Given the description of an element on the screen output the (x, y) to click on. 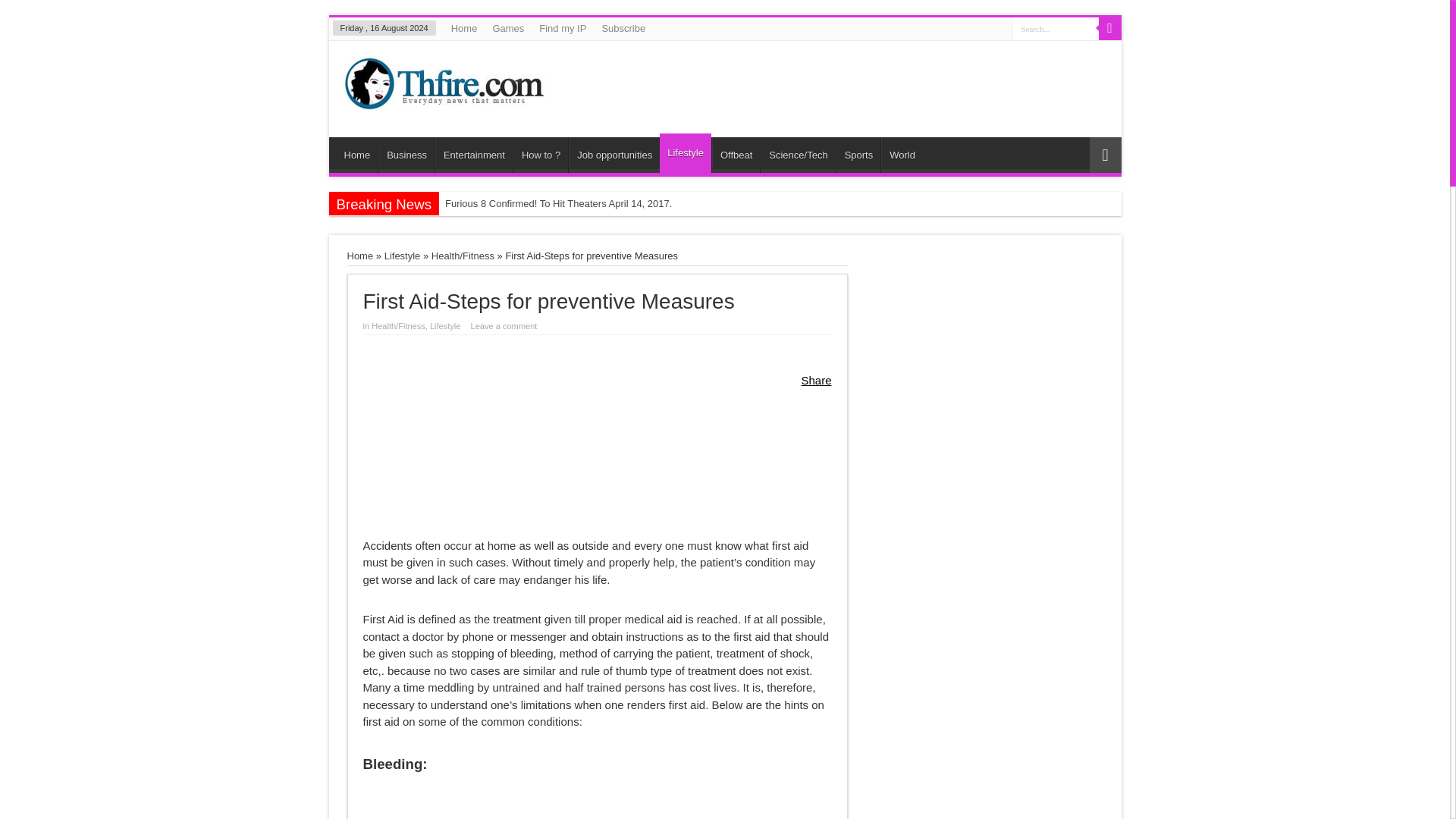
Home (357, 154)
World (901, 154)
Business (405, 154)
Search (1109, 28)
Lifestyle (685, 152)
Lifestyle (402, 255)
Job opportunities (614, 154)
Subscribe (623, 28)
Kawhi Leonard Named NBA Defensive Player of the Year 2015-16 (593, 227)
Sports (857, 154)
